Given the description of an element on the screen output the (x, y) to click on. 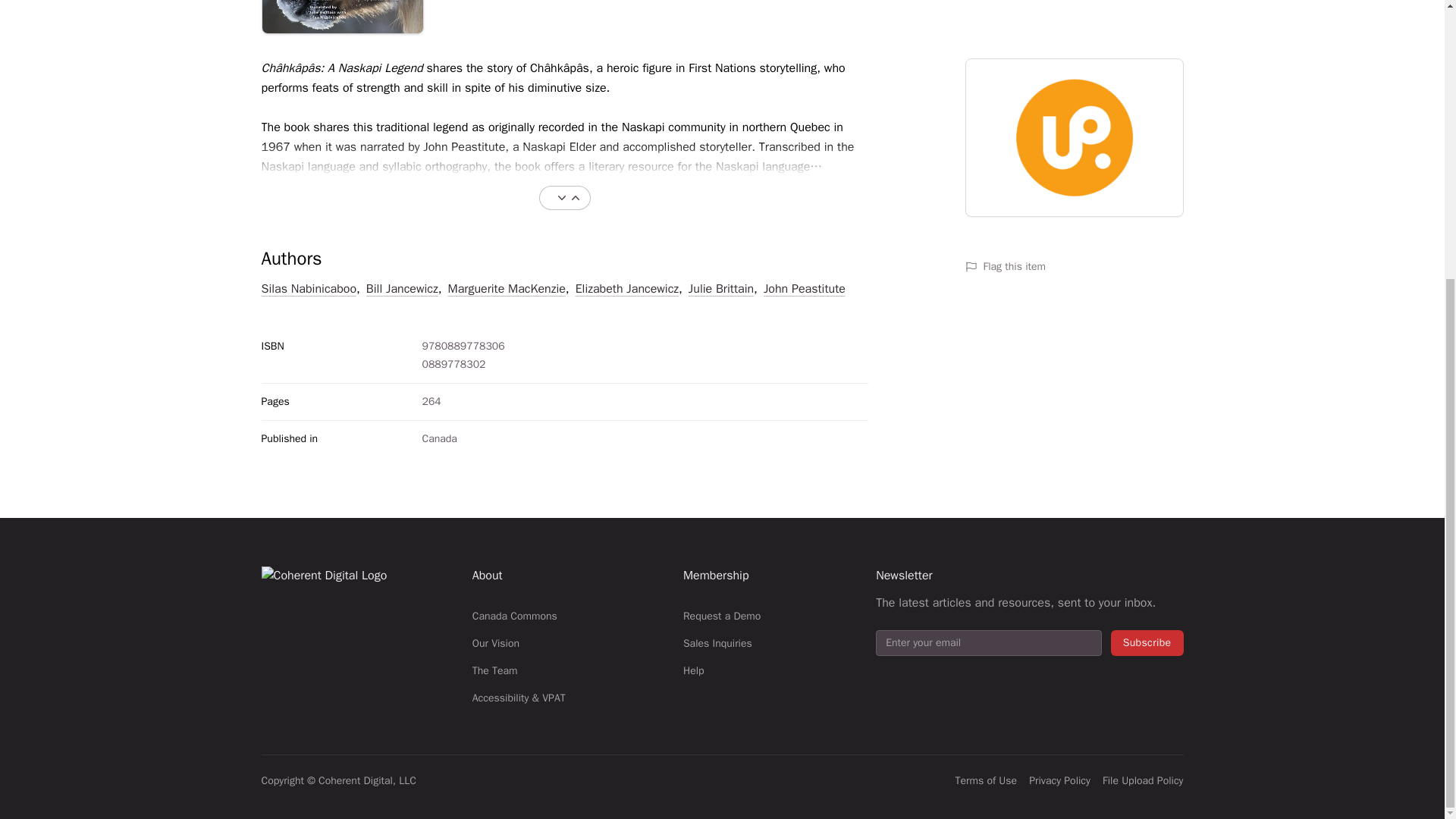
Julie Brittain, (722, 289)
Silas Nabinicaboo, (309, 289)
Bill Jancewicz, (404, 289)
John Peastitute (803, 289)
Marguerite MacKenzie, (508, 289)
Elizabeth Jancewicz, (628, 289)
Flag this item (1072, 266)
